Given the description of an element on the screen output the (x, y) to click on. 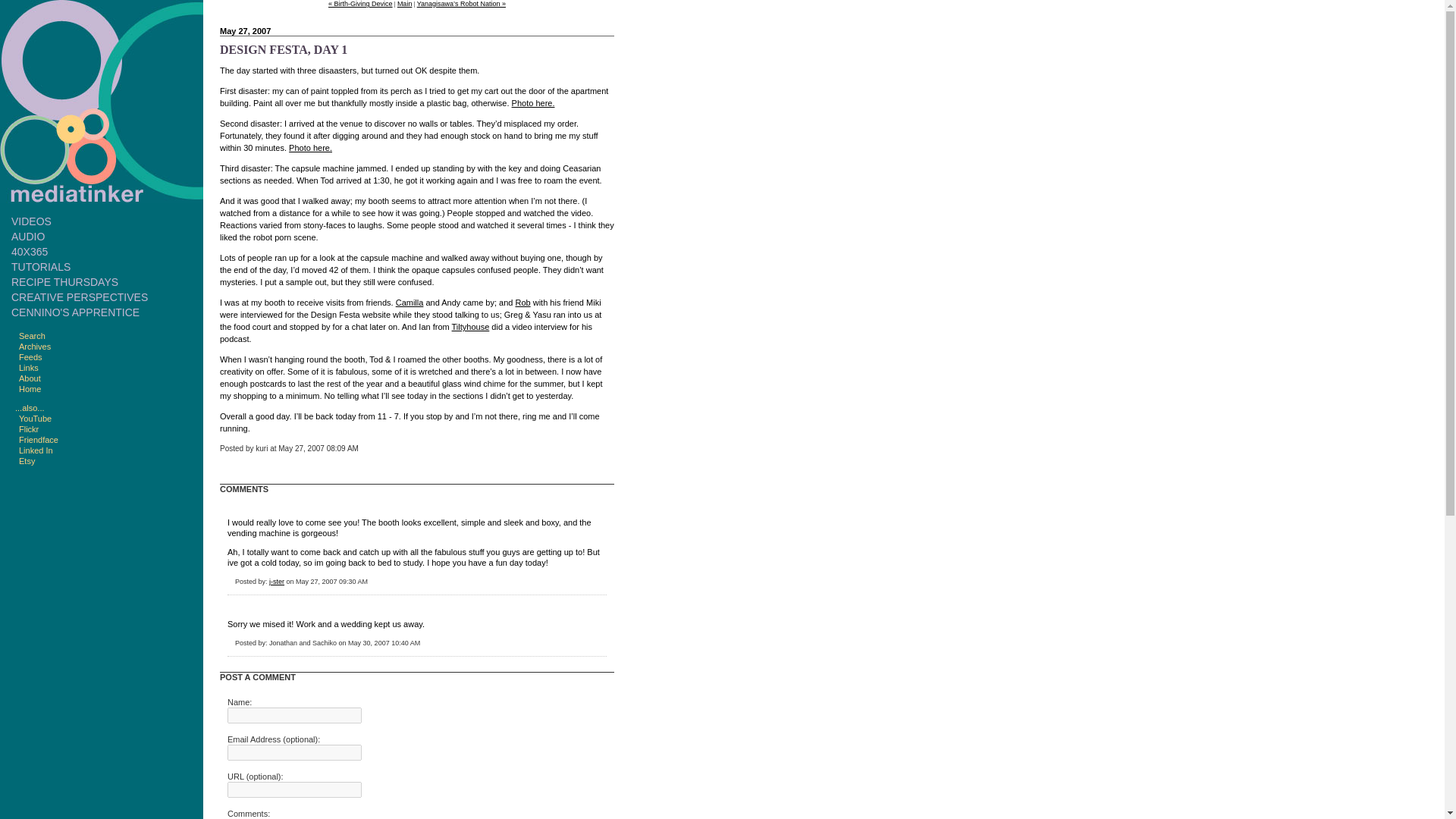
Linked In (33, 450)
Links (26, 367)
VIDEOS (30, 221)
Feeds (28, 356)
Etsy (24, 461)
40X365 (29, 251)
Friendface (36, 439)
j-ster (276, 581)
Rob (522, 302)
TUTORIALS (40, 266)
Tiltyhouse (470, 326)
Photo here. (533, 102)
CENNINO'S APPRENTICE (75, 312)
Archives (32, 346)
AUDIO (28, 236)
